Given the description of an element on the screen output the (x, y) to click on. 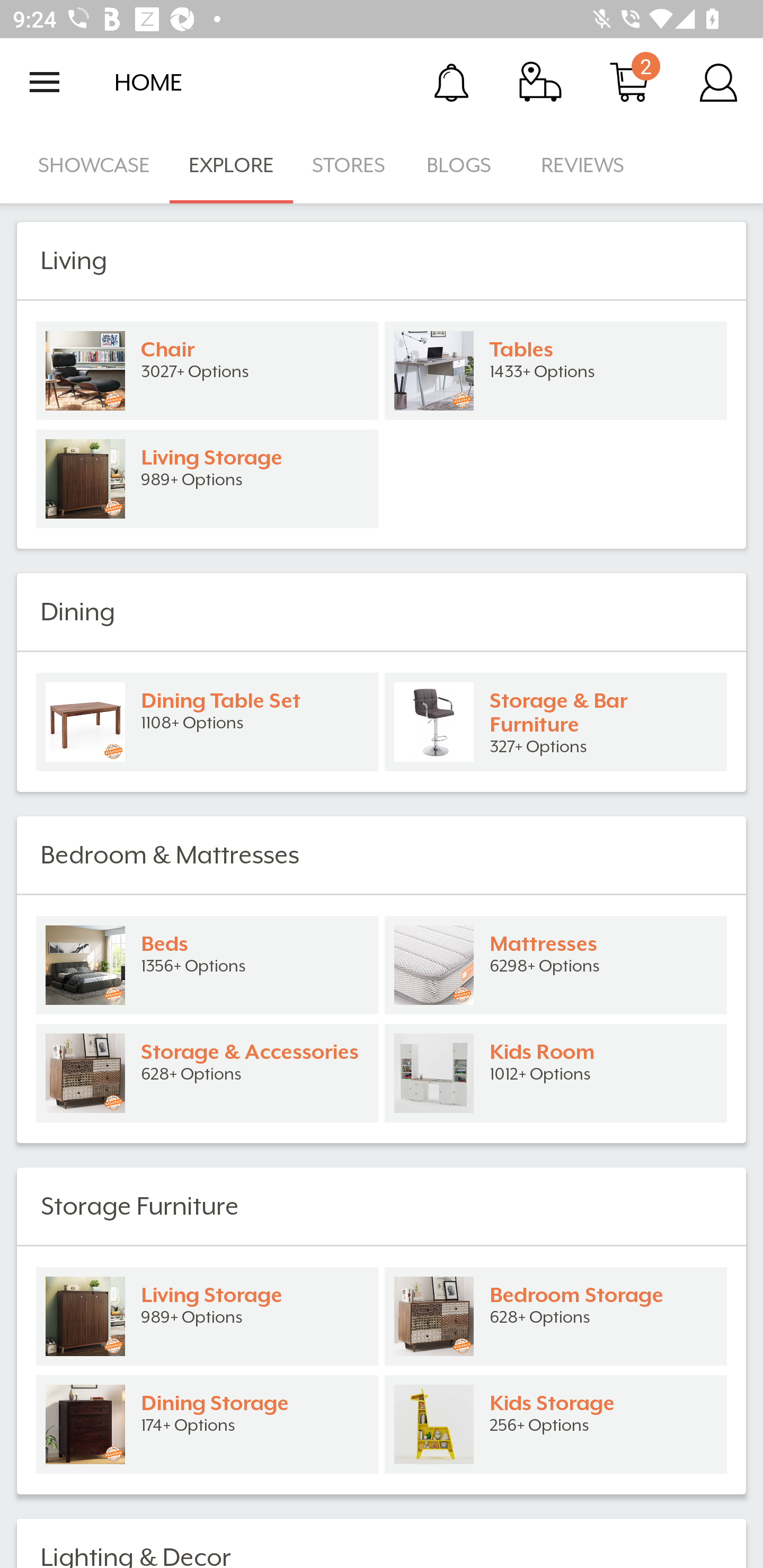
Open navigation drawer (44, 82)
Notification (450, 81)
Track Order (540, 81)
Cart (629, 81)
Account Details (718, 81)
SHOWCASE (94, 165)
EXPLORE (230, 165)
STORES (349, 165)
BLOGS (464, 165)
REVIEWS (582, 165)
Chair 3027+ Options (206, 370)
Tables 1433+ Options (555, 370)
Living Storage 989+ Options (206, 478)
Dining Table Set 1108+ Options (206, 721)
Storage & Bar Furniture 327+ Options (555, 721)
Beds 1356+ Options (206, 965)
Mattresses 6298+ Options (555, 965)
Storage & Accessories 628+ Options (206, 1073)
Kids Room 1012+ Options (555, 1073)
Living Storage 989+ Options (206, 1316)
Bedroom Storage 628+ Options (555, 1316)
Dining Storage 174+ Options (206, 1424)
Kids Storage 256+ Options (555, 1424)
